Given the description of an element on the screen output the (x, y) to click on. 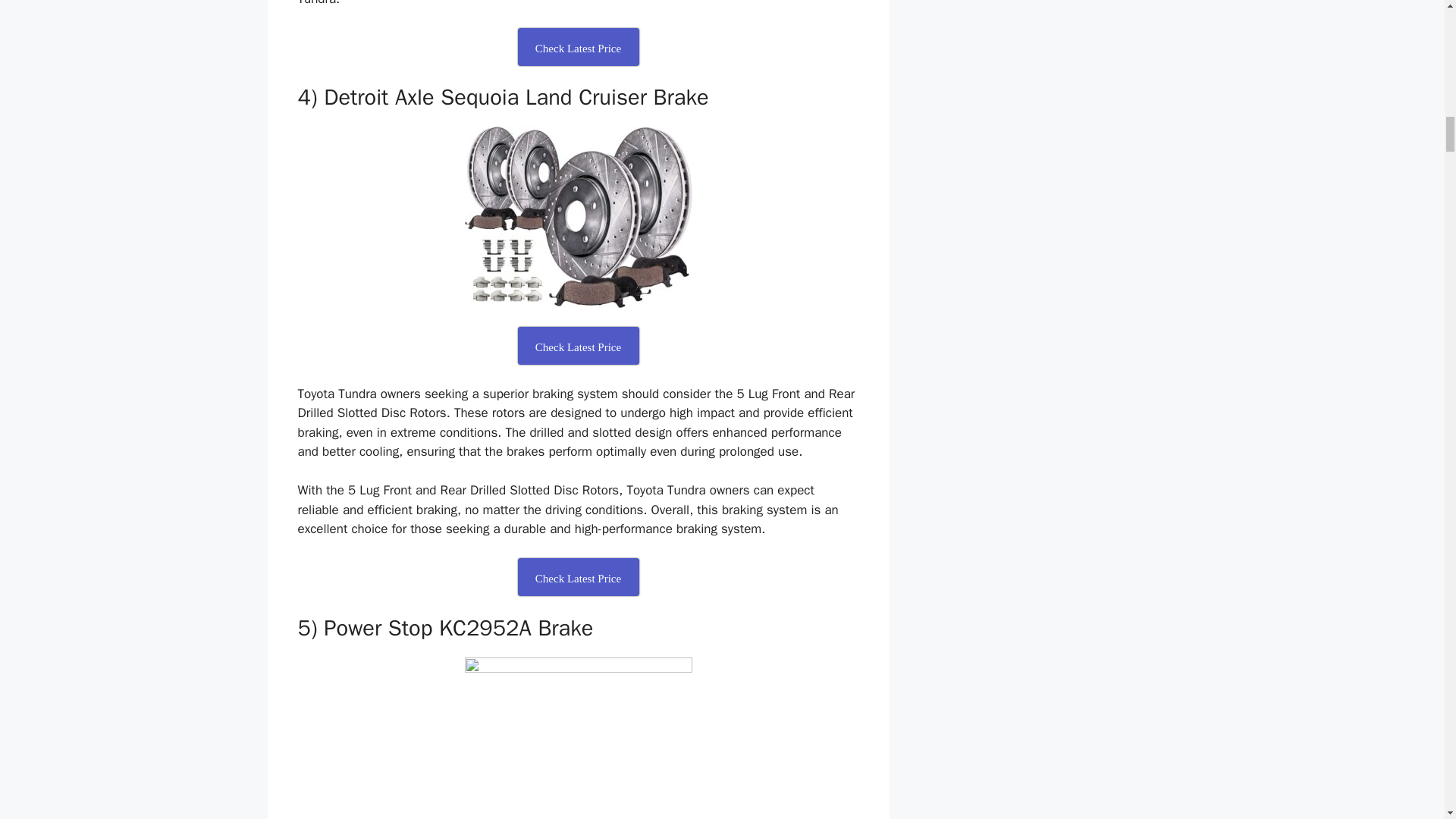
Check Latest Price (577, 46)
Check Latest Price (577, 345)
Check Latest Price (577, 576)
